Given the description of an element on the screen output the (x, y) to click on. 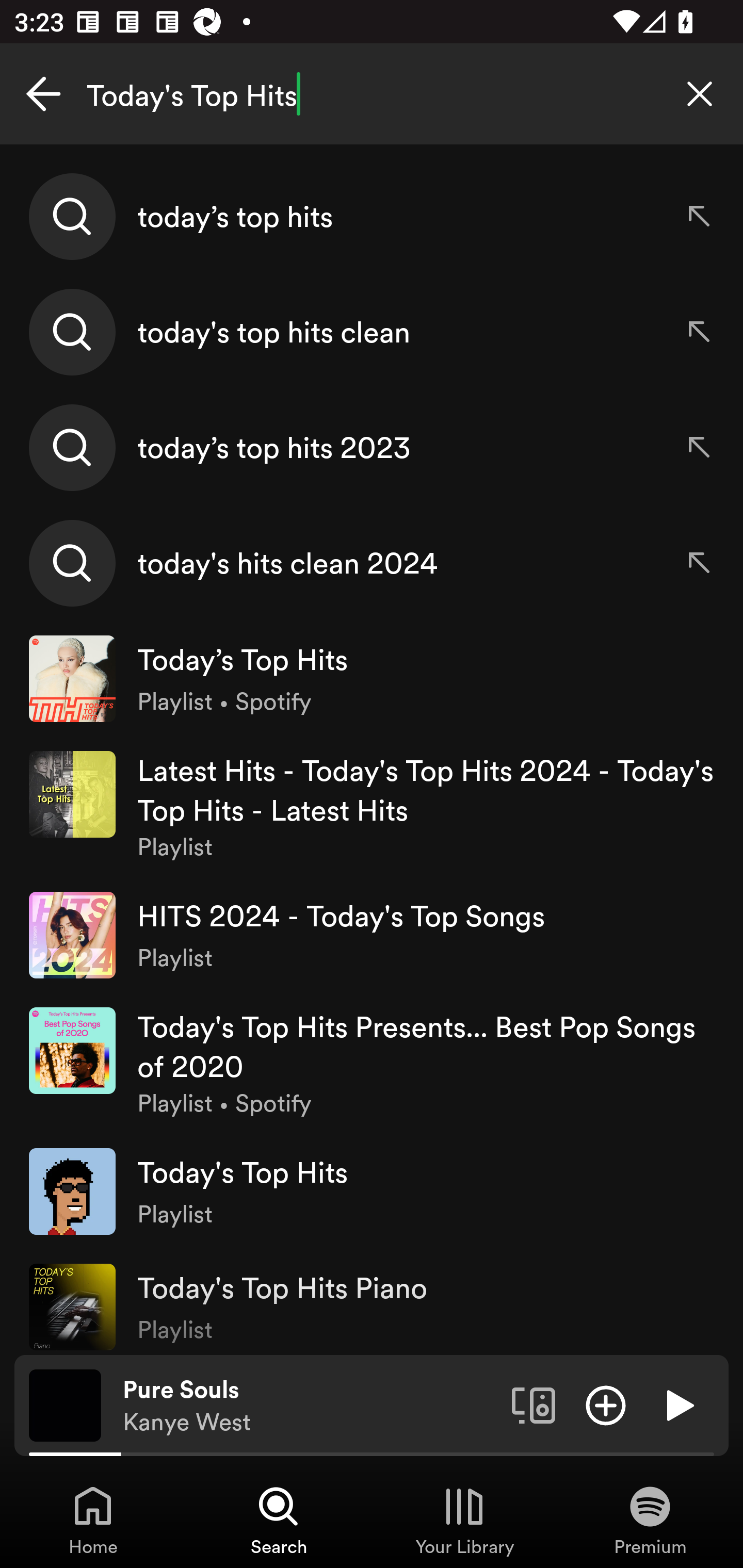
Today's Top Hits (371, 93)
Cancel (43, 93)
Clear search query (699, 93)
today’s top hits (371, 216)
today's top hits clean (371, 332)
today’s top hits 2023 (371, 447)
today's hits clean 2024 (371, 562)
Today’s Top Hits Playlist • Spotify (371, 678)
HITS 2024 - Today's Top Songs Playlist (371, 935)
Today's Top Hits Playlist (371, 1191)
Today's Top Hits Piano Playlist (371, 1301)
Pure Souls Kanye West (309, 1405)
The cover art of the currently playing track (64, 1404)
